Given the description of an element on the screen output the (x, y) to click on. 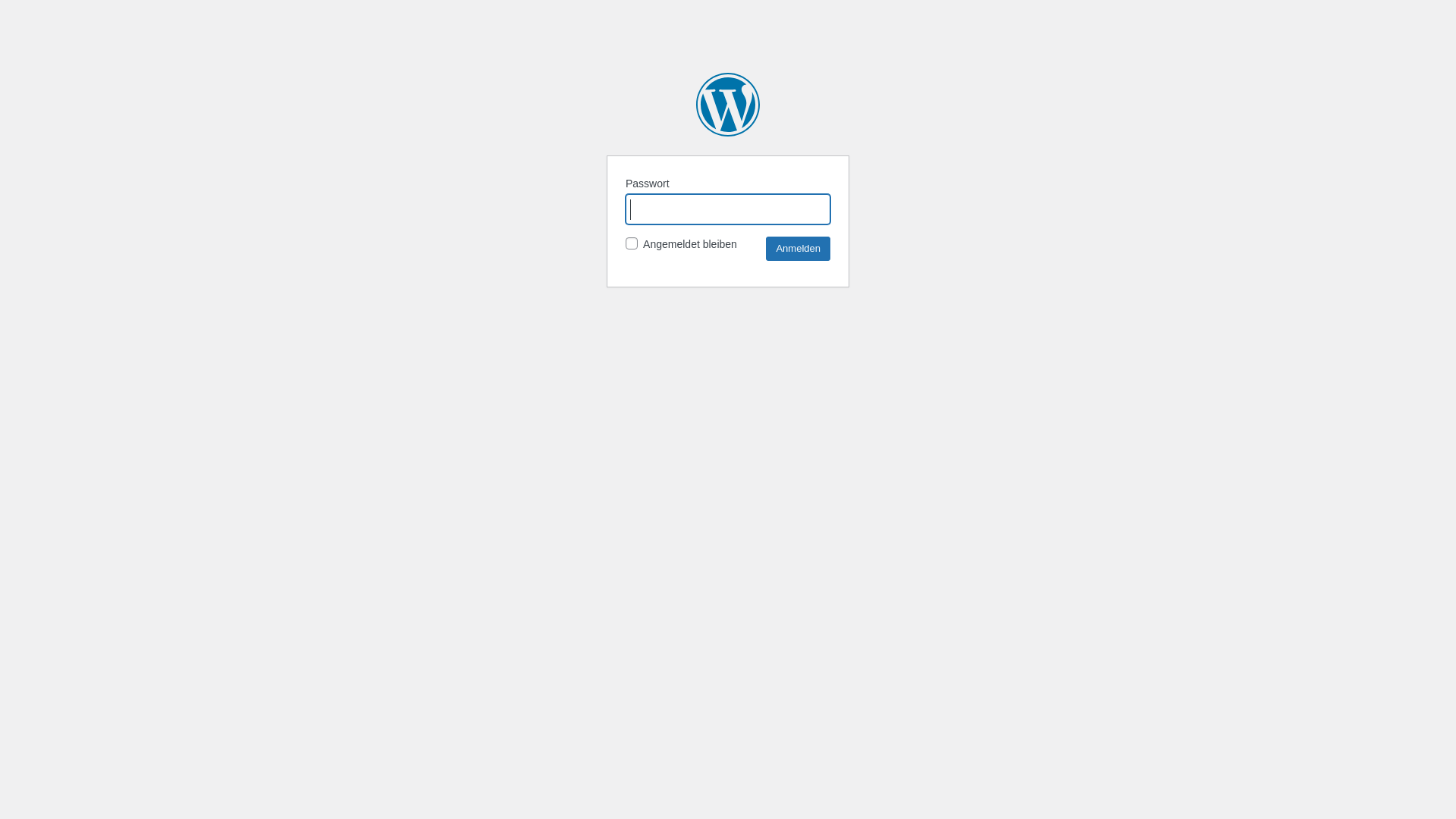
Anmelden Element type: text (797, 248)
11880 Incentives Element type: text (727, 104)
